Given the description of an element on the screen output the (x, y) to click on. 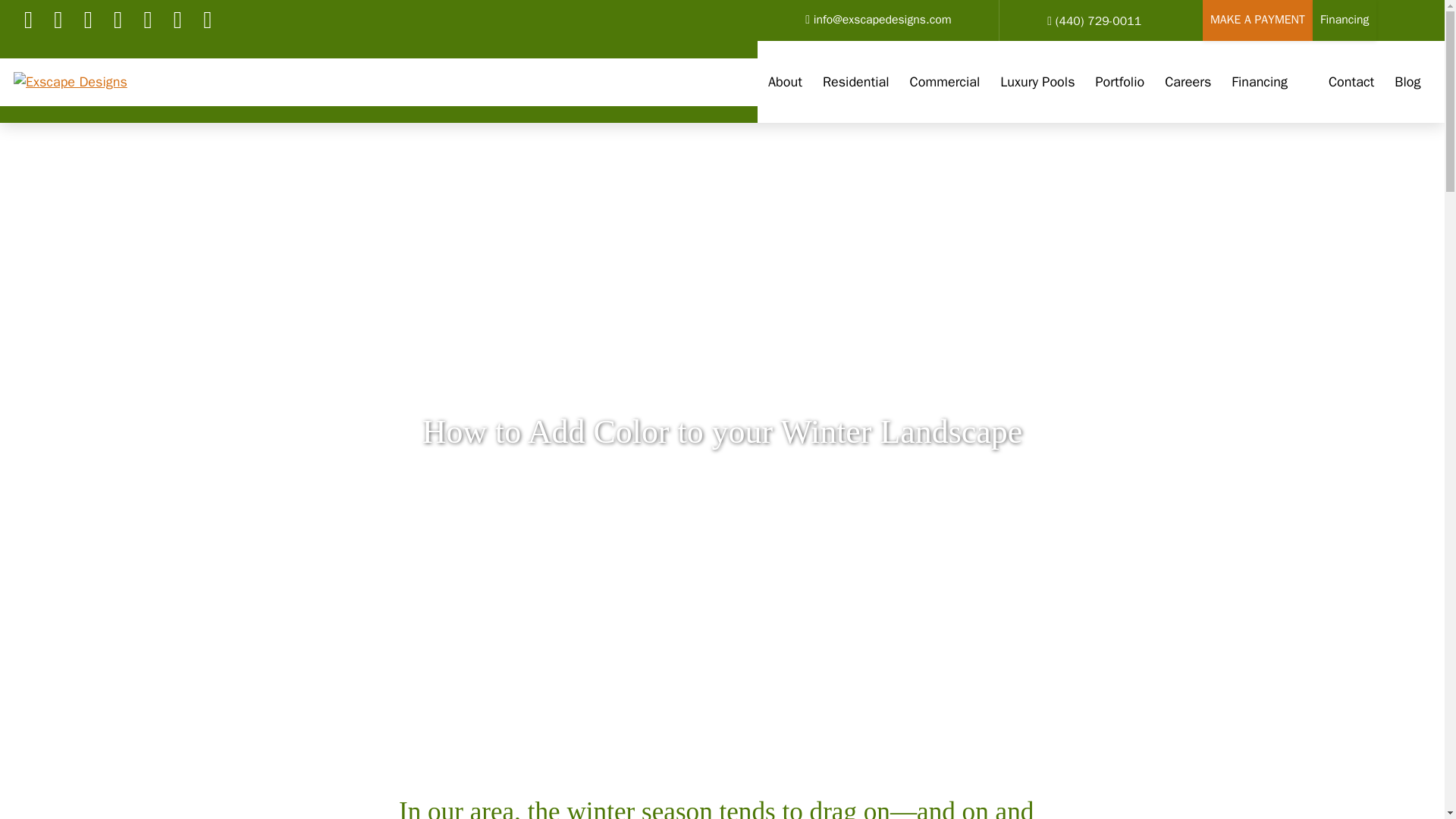
Residential (855, 81)
About (784, 81)
